Given the description of an element on the screen output the (x, y) to click on. 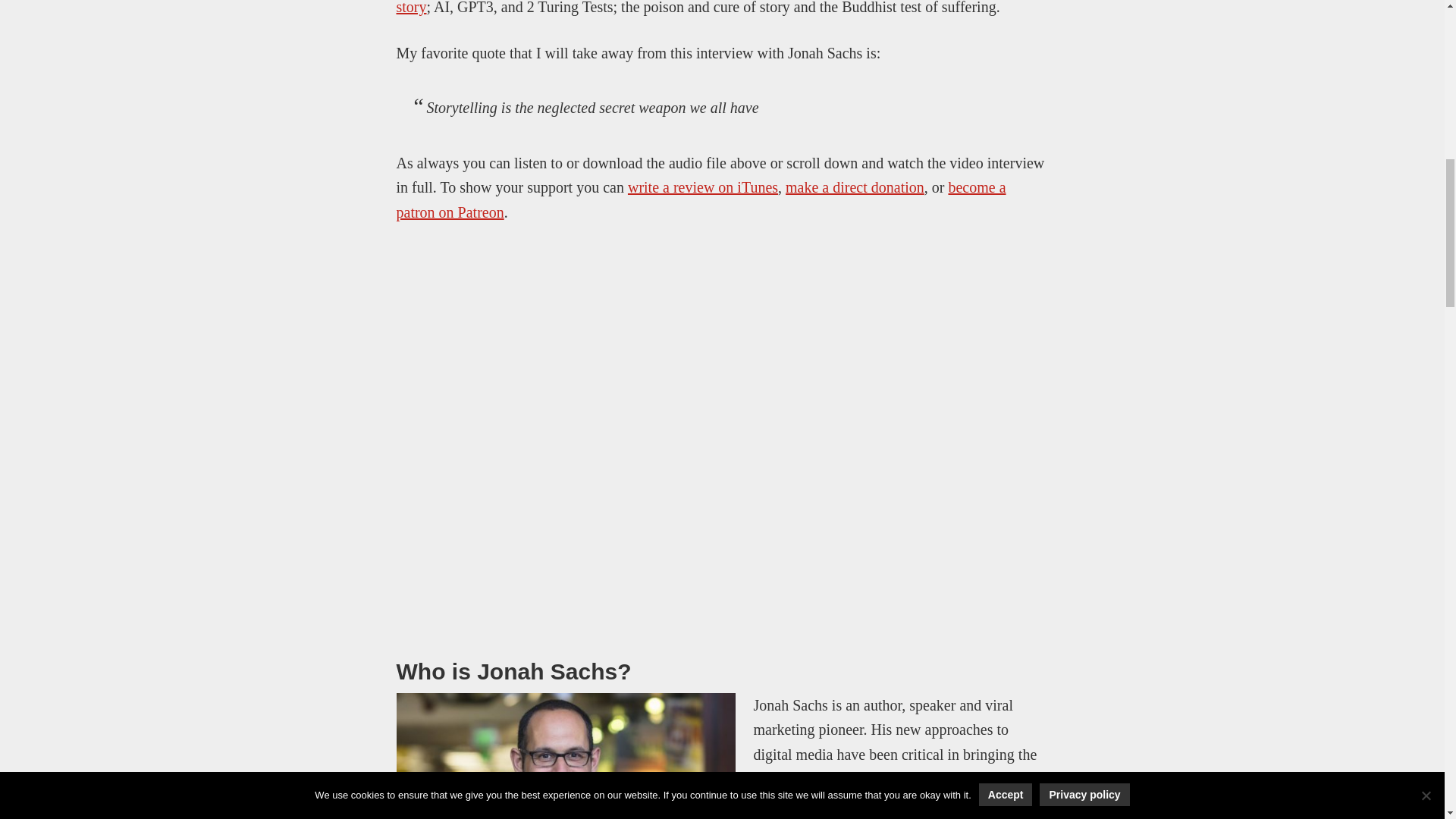
make a direct donation (855, 187)
Donate and Support Singularity Weblog (855, 187)
our current human story (719, 7)
become a patron on Patreon (701, 199)
Singularity 1 on 1 iTunes (702, 187)
write a review on iTunes (702, 187)
